Given the description of an element on the screen output the (x, y) to click on. 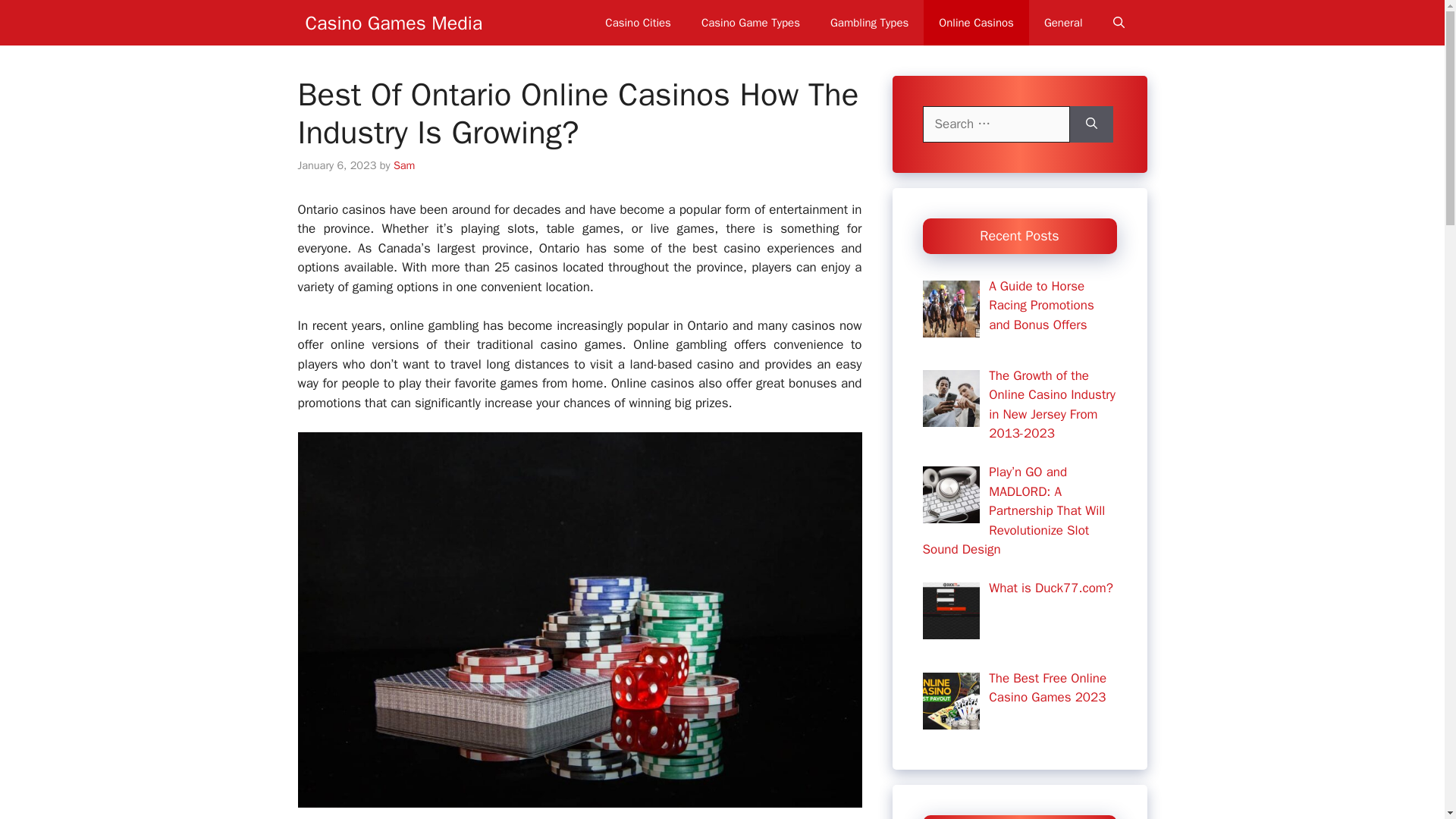
Casino Games Media (392, 22)
A Guide to Horse Racing Promotions and Bonus Offers (1041, 304)
Search for: (994, 124)
View all posts by Sam (403, 164)
Online Casinos (976, 22)
Casino Cities (637, 22)
What is Duck77.com? (1050, 587)
Casino Game Types (750, 22)
Gambling Types (869, 22)
Sam (403, 164)
General (1063, 22)
The Best Free Online Casino Games 2023 (1047, 687)
